Given the description of an element on the screen output the (x, y) to click on. 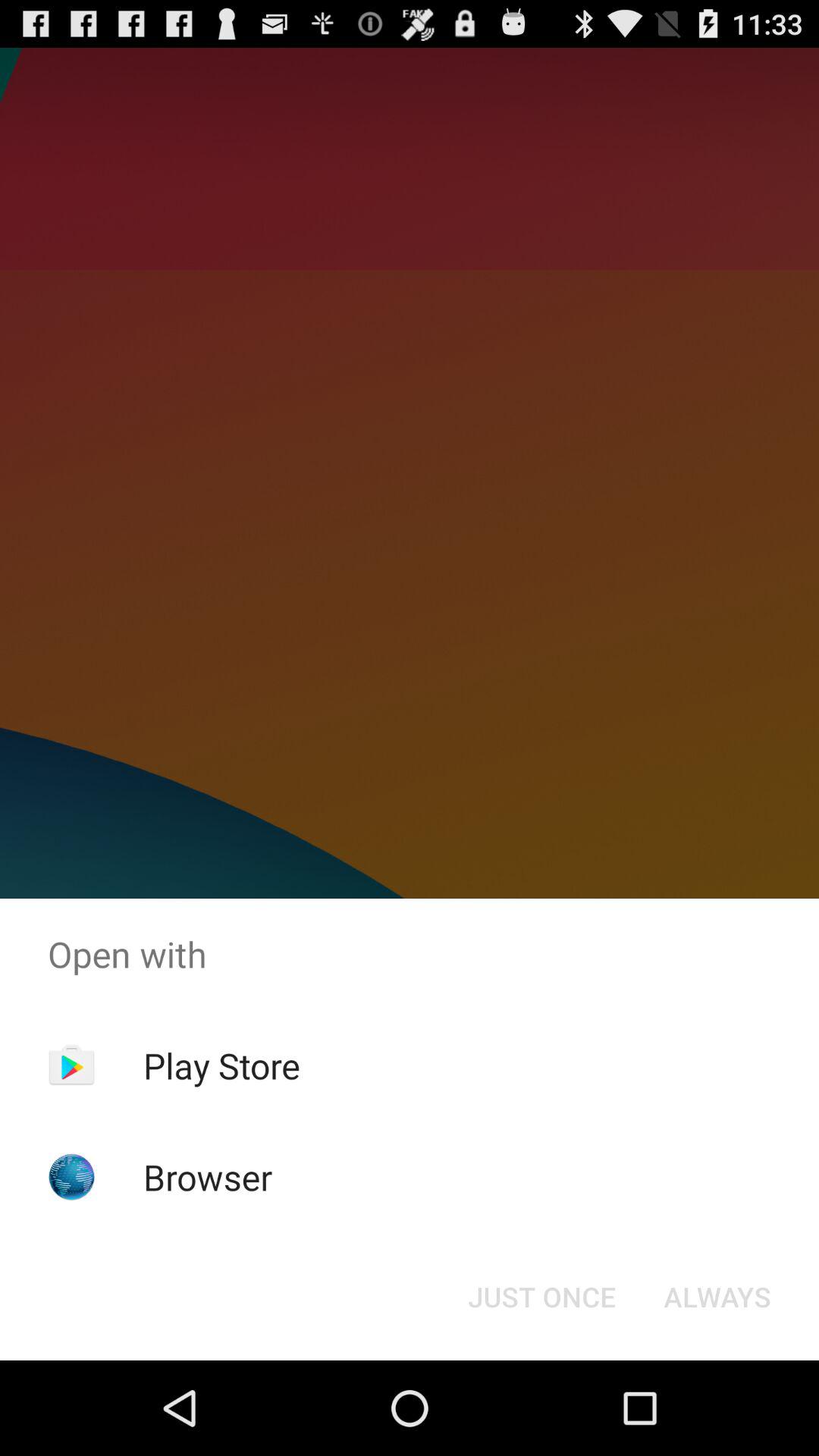
open play store item (221, 1065)
